Given the description of an element on the screen output the (x, y) to click on. 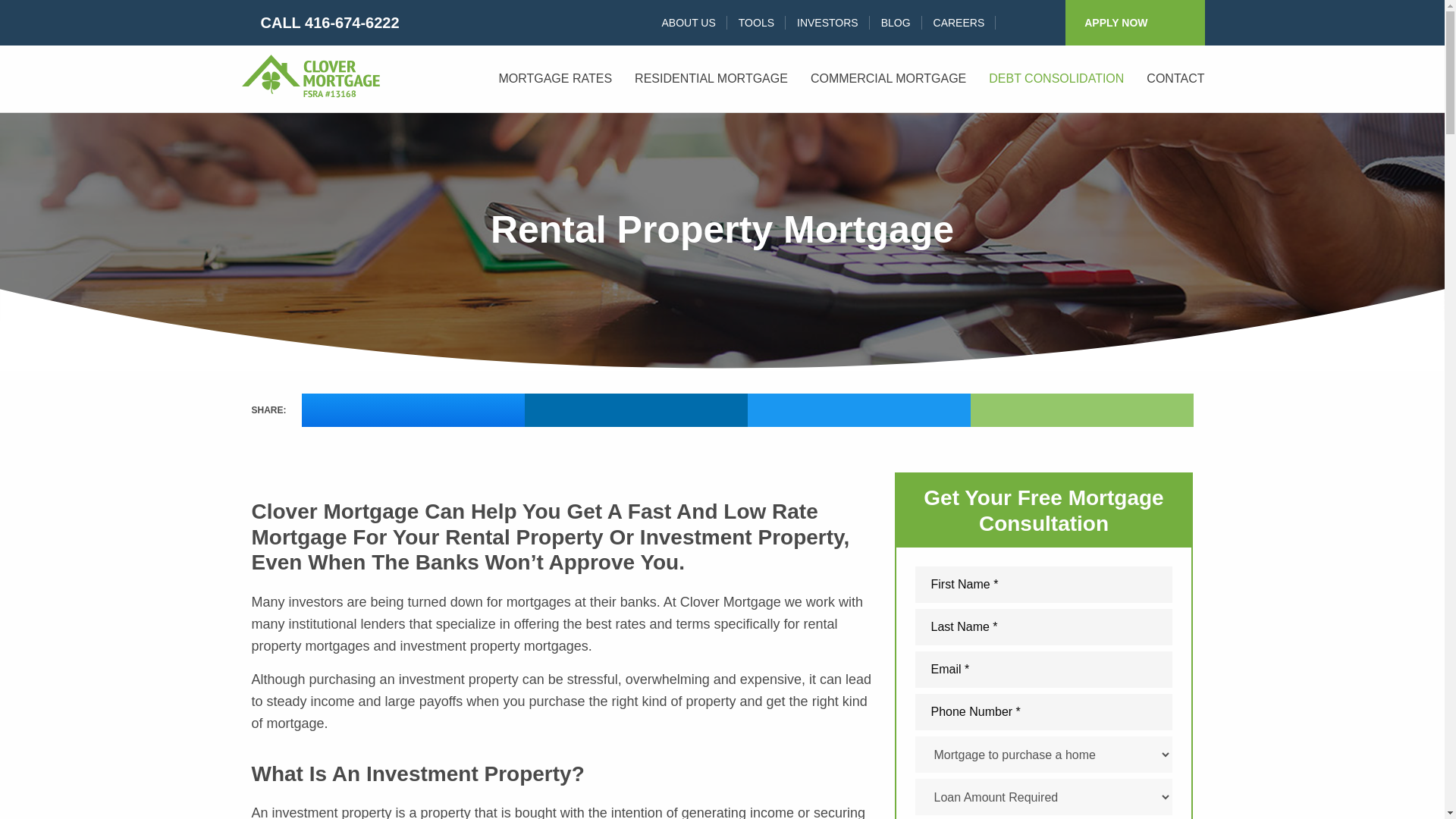
ABOUT US (687, 22)
DEBT CONSOLIDATION (1055, 78)
MORTGAGE RATES (554, 78)
INVESTORS (827, 22)
TOOLS (756, 22)
COMMERCIAL MORTGAGE (887, 78)
APPLY NOW (1134, 22)
CALL 416-674-6222 (319, 22)
BLOG (895, 22)
CAREERS (958, 22)
